Given the description of an element on the screen output the (x, y) to click on. 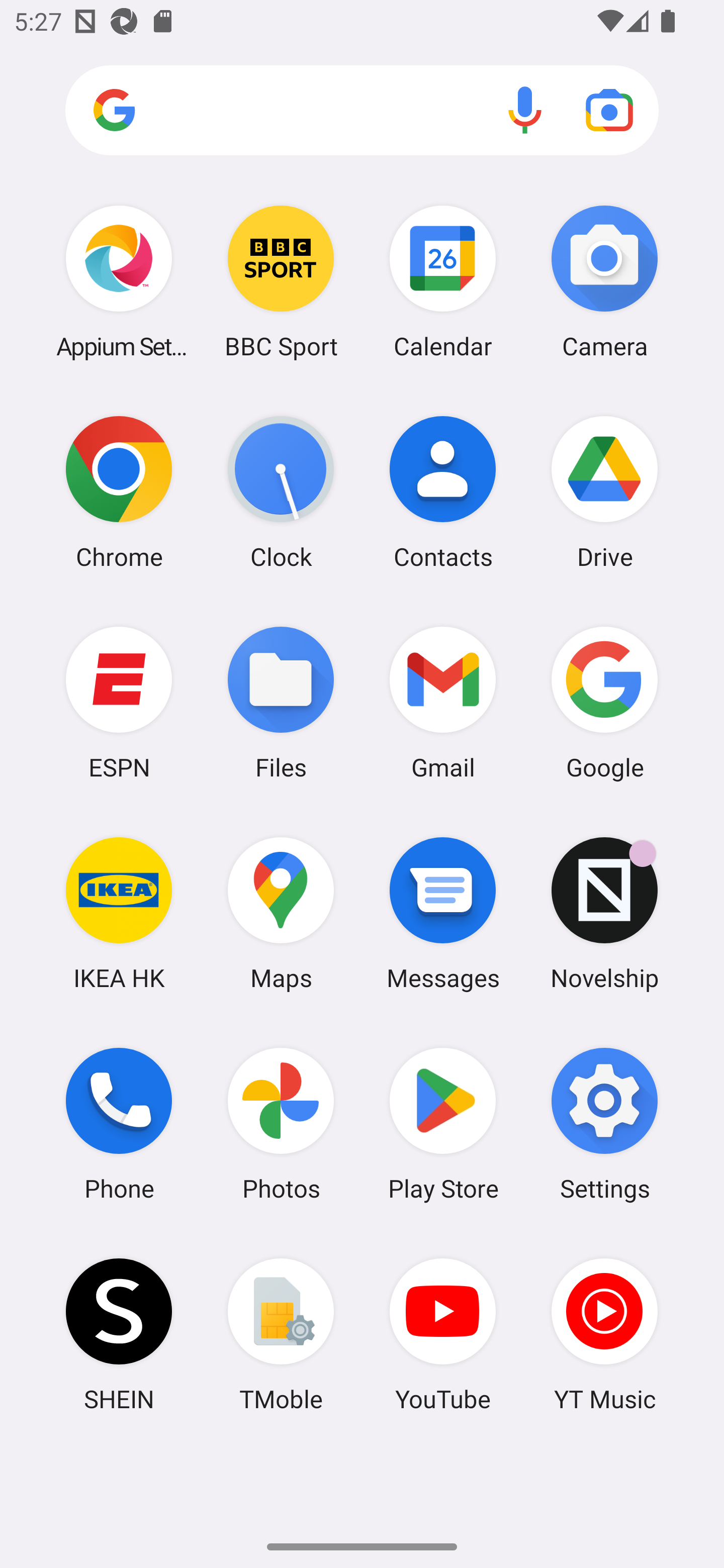
Search apps, web and more (361, 110)
Voice search (524, 109)
Google Lens (608, 109)
Appium Settings (118, 281)
BBC Sport (280, 281)
Calendar (443, 281)
Camera (604, 281)
Chrome (118, 492)
Clock (280, 492)
Contacts (443, 492)
Drive (604, 492)
ESPN (118, 702)
Files (280, 702)
Gmail (443, 702)
Google (604, 702)
IKEA HK (118, 913)
Maps (280, 913)
Messages (443, 913)
Novelship Novelship has 1 notification (604, 913)
Phone (118, 1124)
Photos (280, 1124)
Play Store (443, 1124)
Settings (604, 1124)
SHEIN (118, 1334)
TMoble (280, 1334)
YouTube (443, 1334)
YT Music (604, 1334)
